Given the description of an element on the screen output the (x, y) to click on. 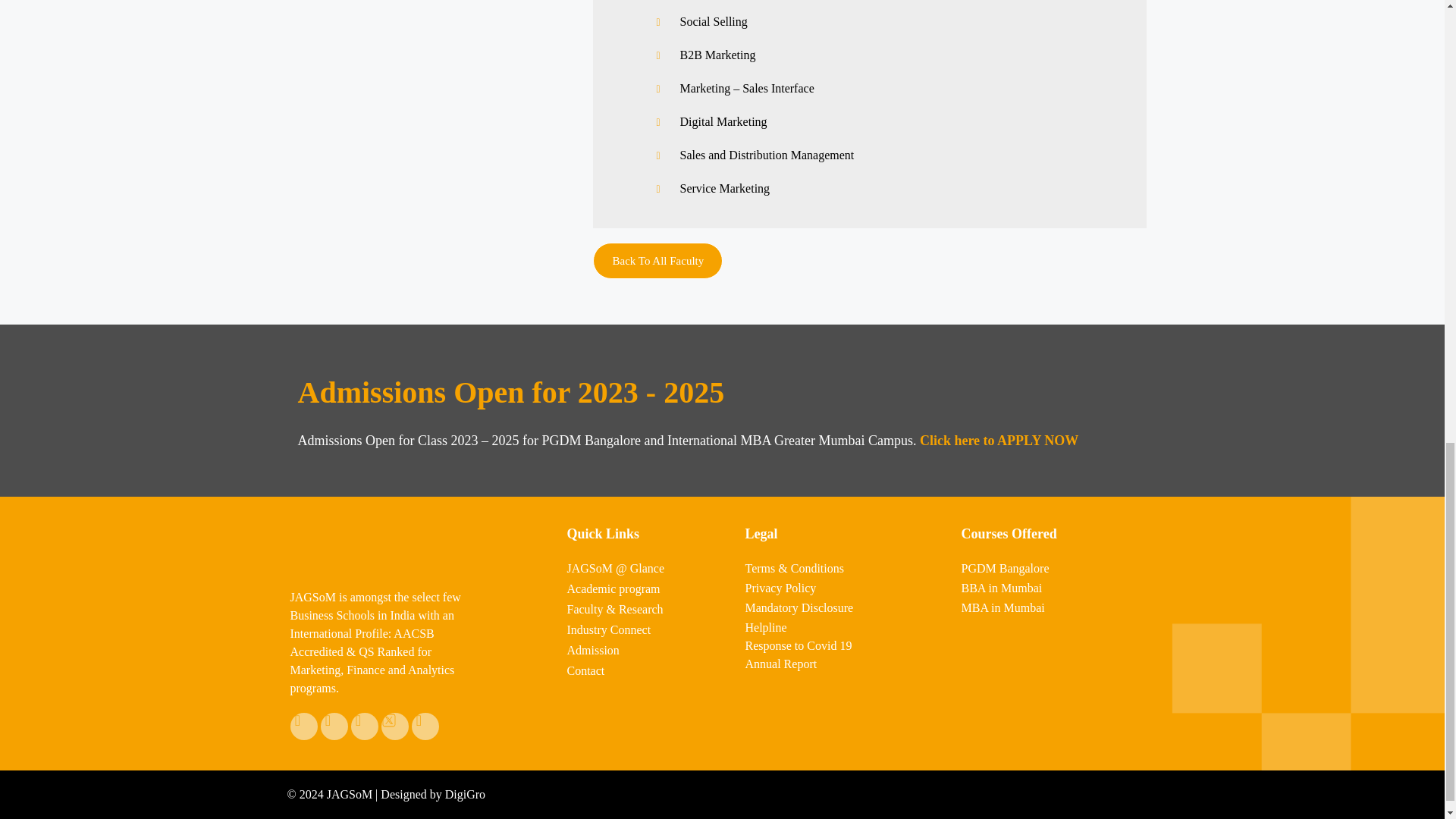
Scroll back to top (1406, 531)
